Given the description of an element on the screen output the (x, y) to click on. 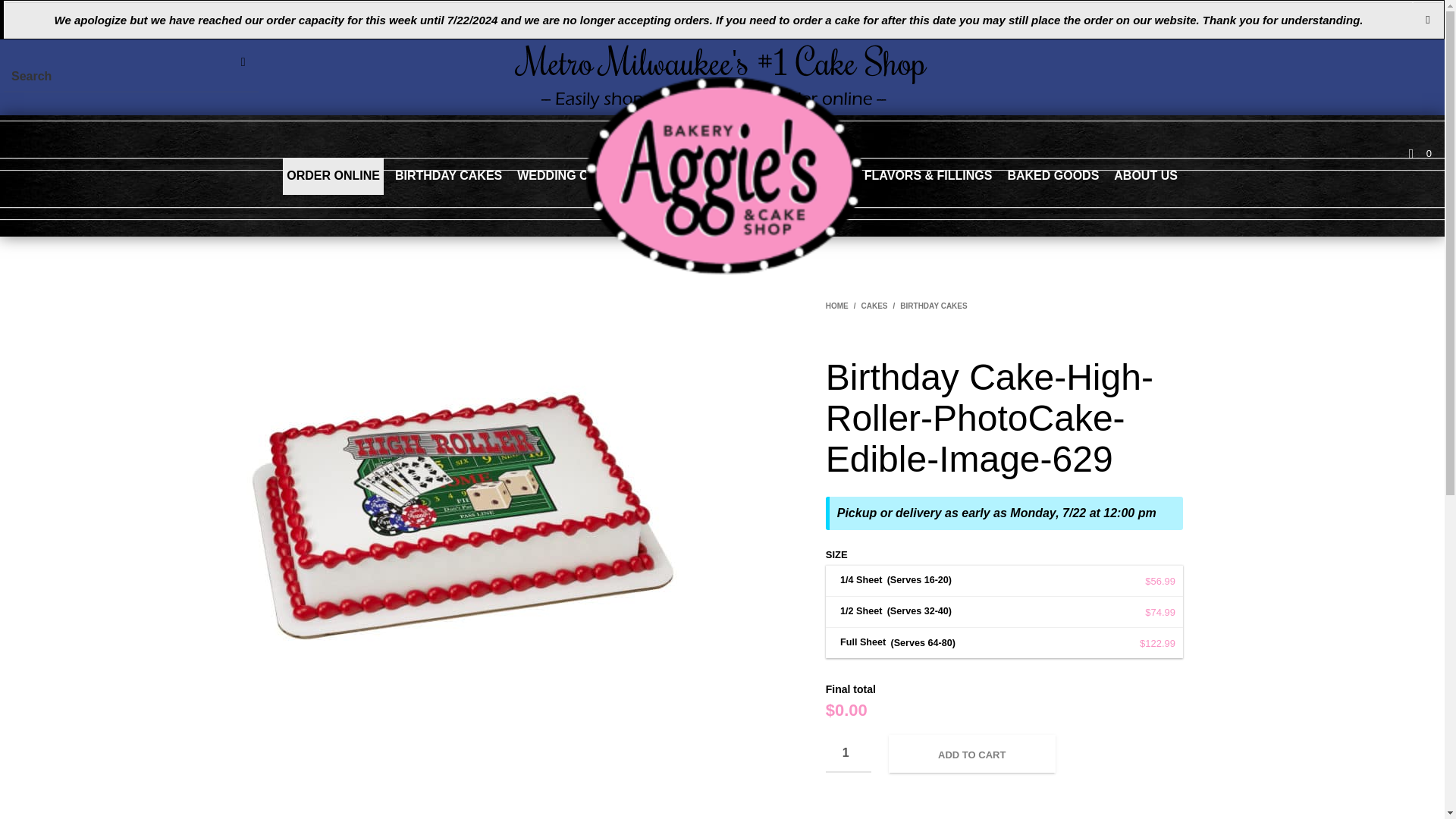
Qty (847, 753)
Search (243, 61)
Search for: (131, 77)
ORDER ONLINE (333, 176)
Search (243, 61)
1 (847, 753)
